Given the description of an element on the screen output the (x, y) to click on. 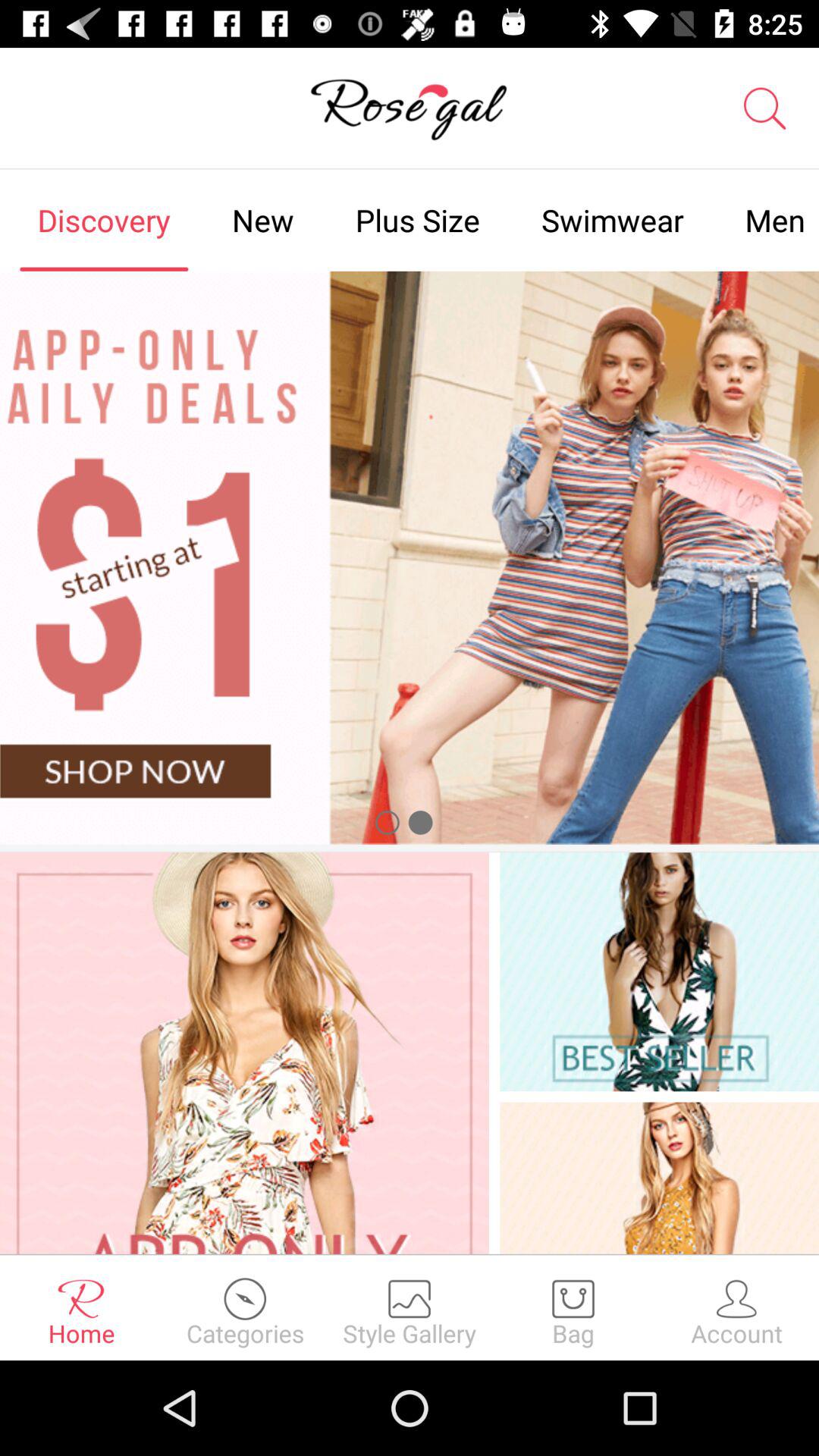
access app deals (409, 557)
